Given the description of an element on the screen output the (x, y) to click on. 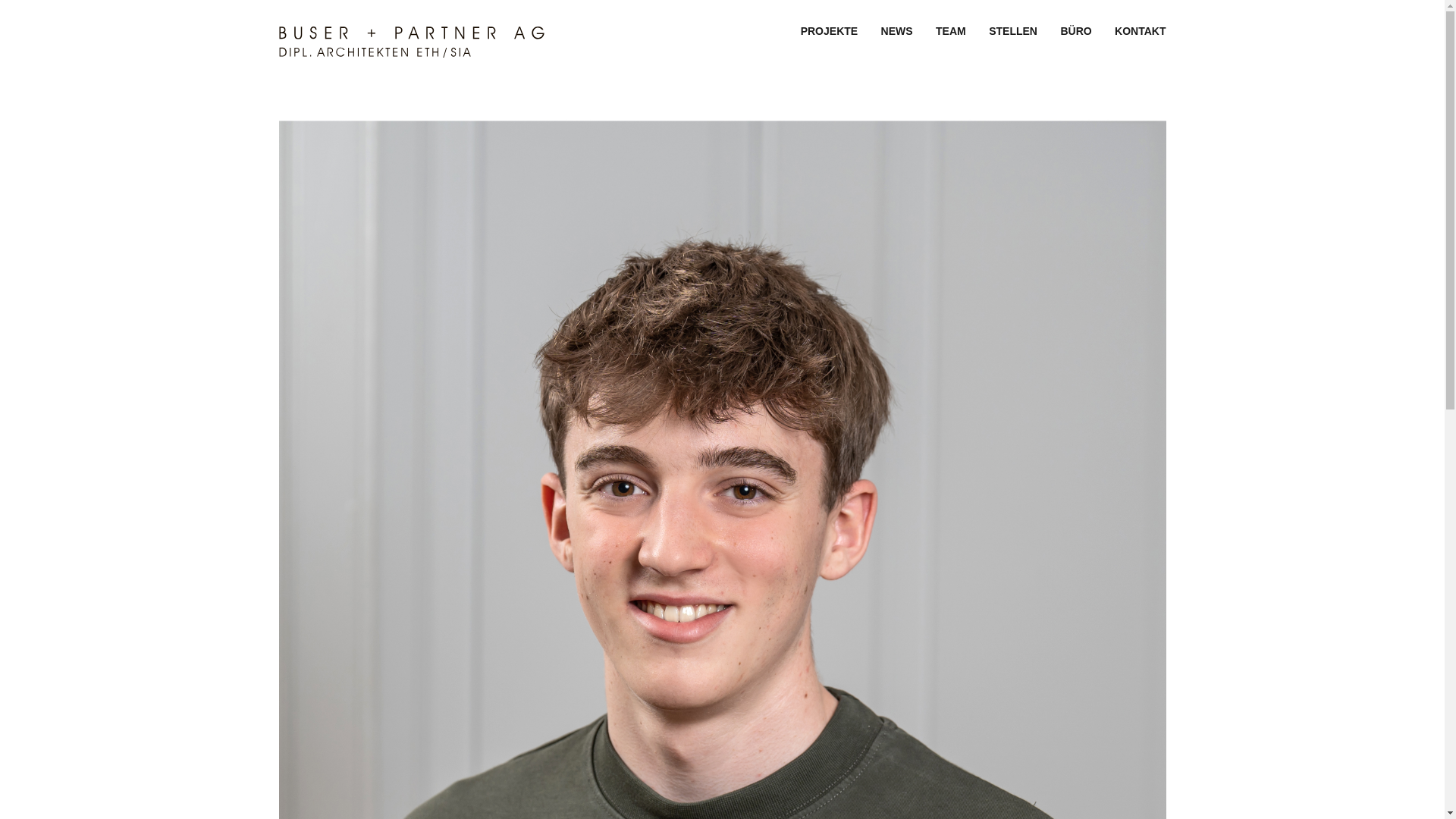
KONTAKT Element type: text (1139, 31)
PROJEKTE Element type: text (828, 31)
TEAM Element type: text (950, 31)
STELLEN Element type: text (1013, 31)
NEWS Element type: text (896, 31)
BUSER + PARTNER AG (Kopie) Element type: hover (411, 53)
